Given the description of an element on the screen output the (x, y) to click on. 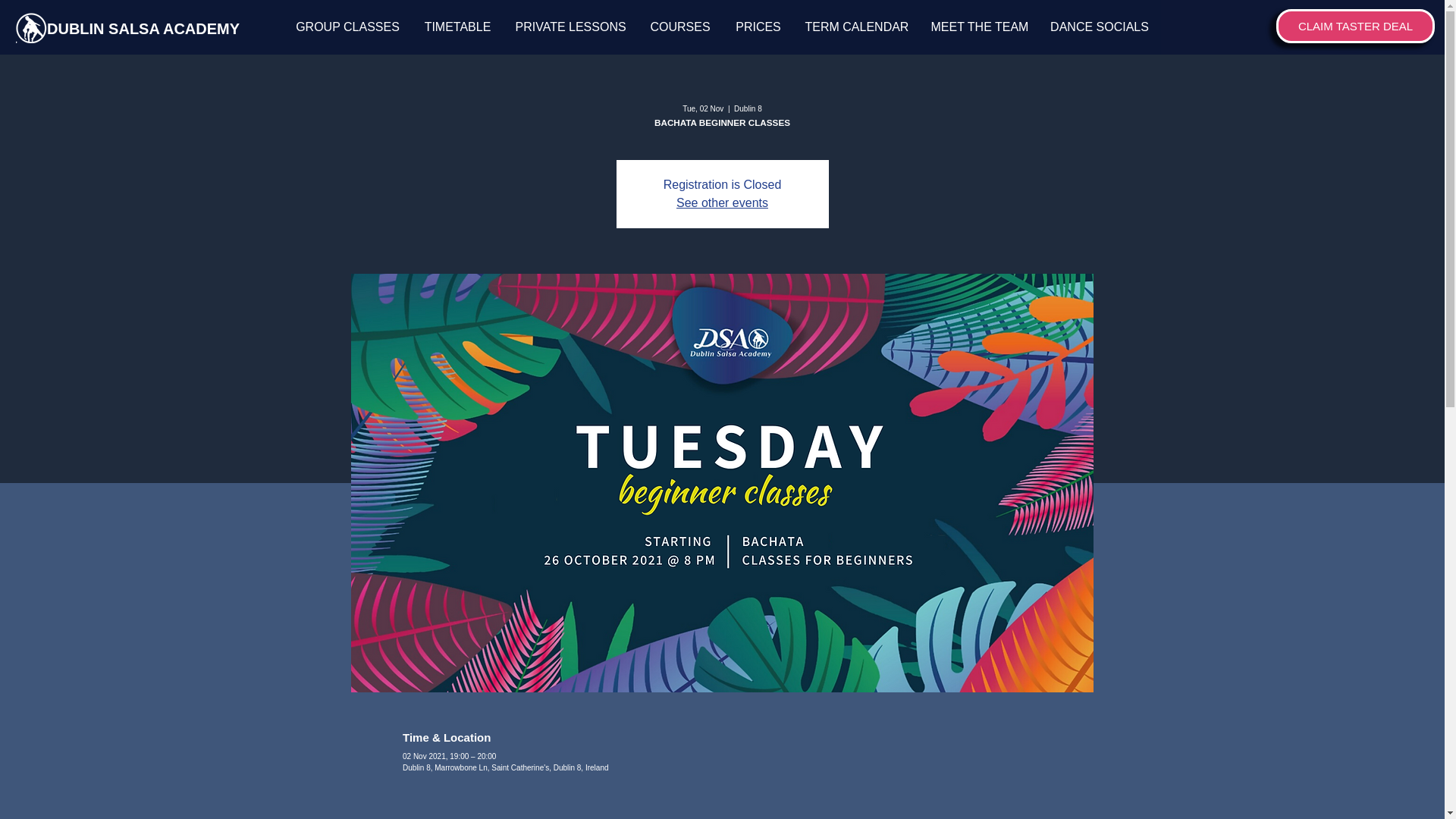
CLAIM TASTER DEAL (1355, 26)
COURSES (679, 26)
PRICES (758, 26)
TIMETABLE (456, 26)
MEET THE TEAM (977, 26)
GROUP CLASSES (346, 26)
PRIVATE LESSONS (570, 26)
See other events (722, 202)
DUBLIN SALSA ACADEMY (143, 28)
DANCE SOCIALS (1098, 26)
